Given the description of an element on the screen output the (x, y) to click on. 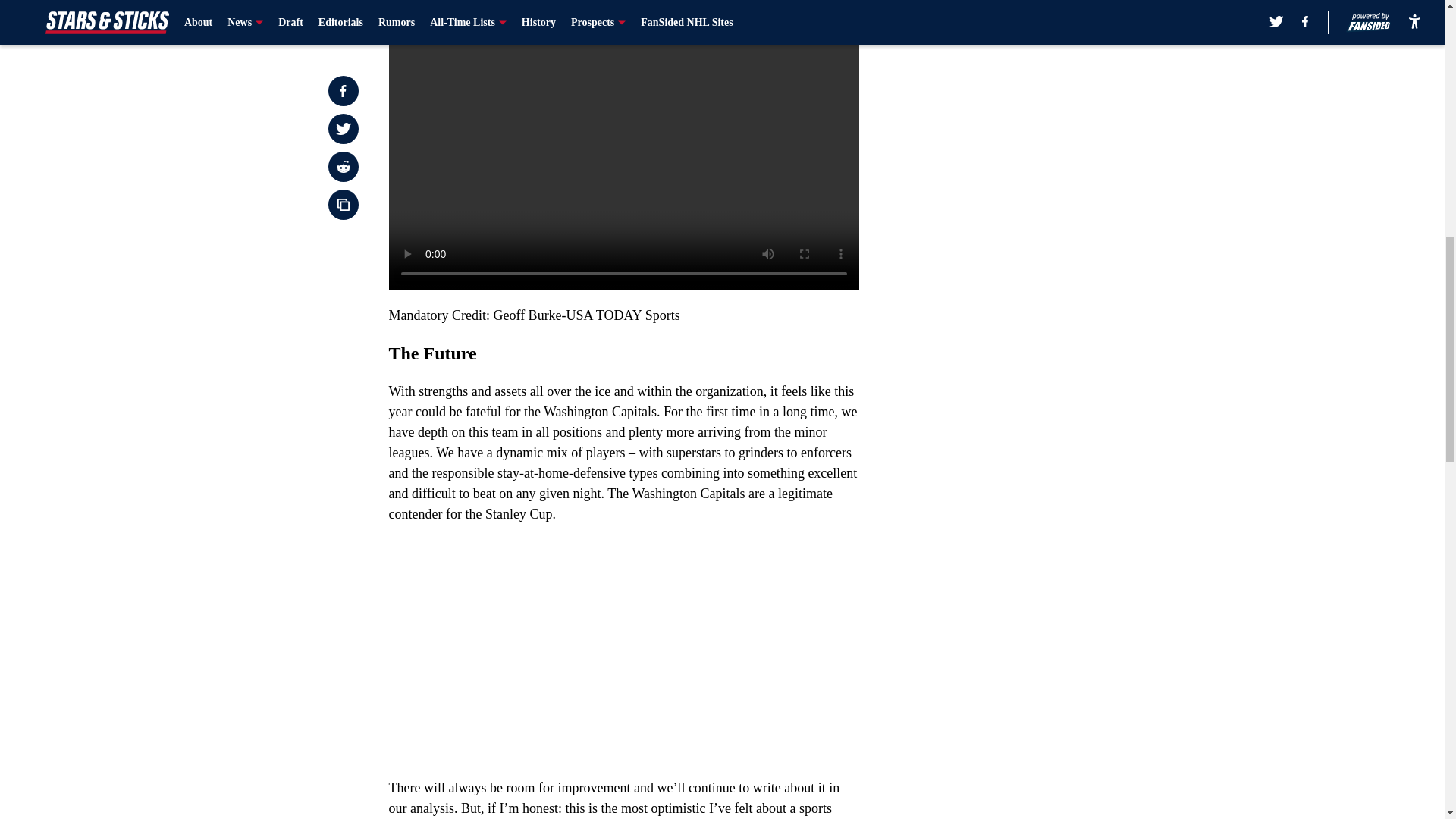
3rd party ad content (1047, 84)
3rd party ad content (1047, 294)
Next (813, 5)
Prev (433, 5)
